Given the description of an element on the screen output the (x, y) to click on. 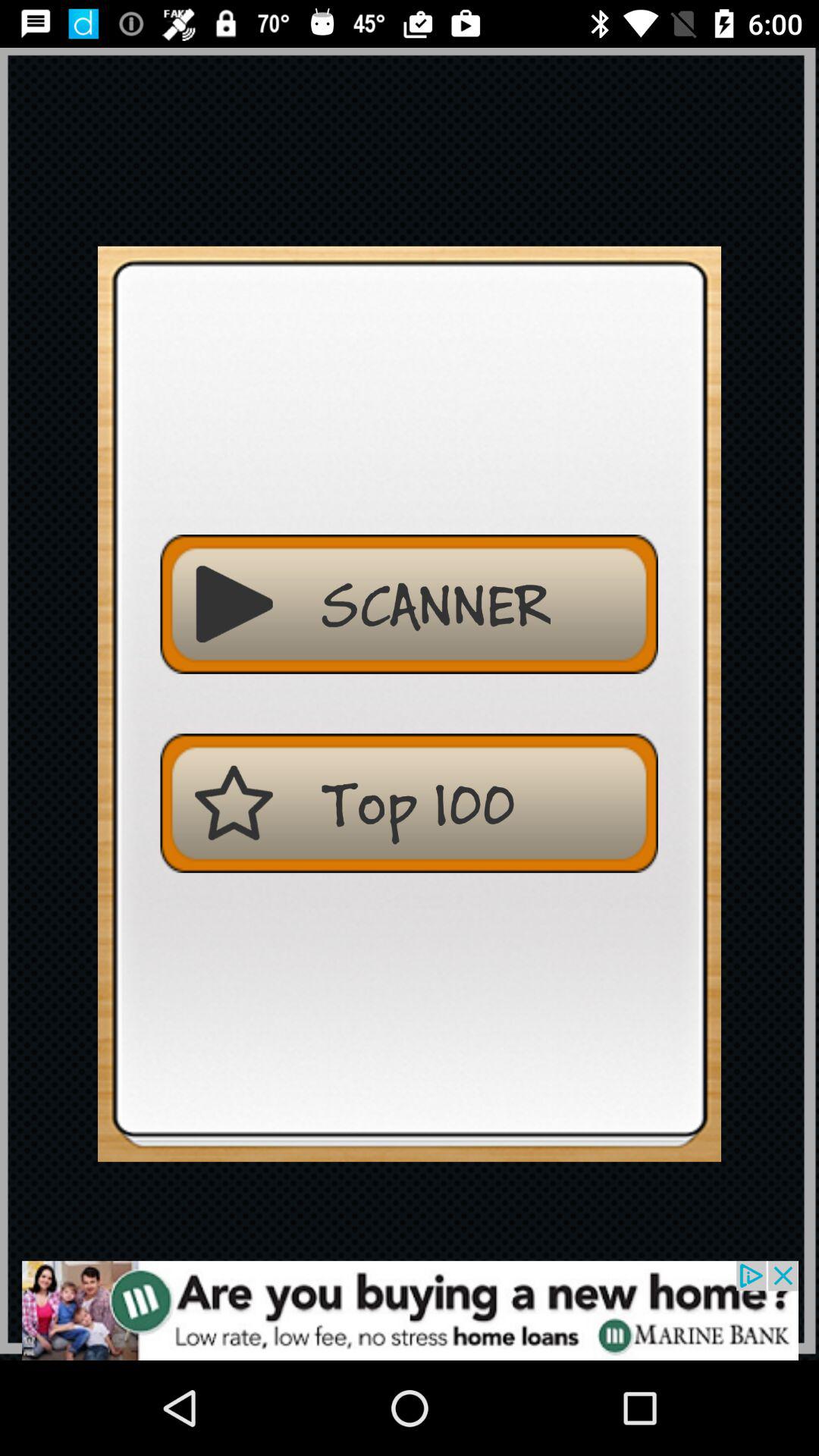
advertisement (409, 1310)
